Given the description of an element on the screen output the (x, y) to click on. 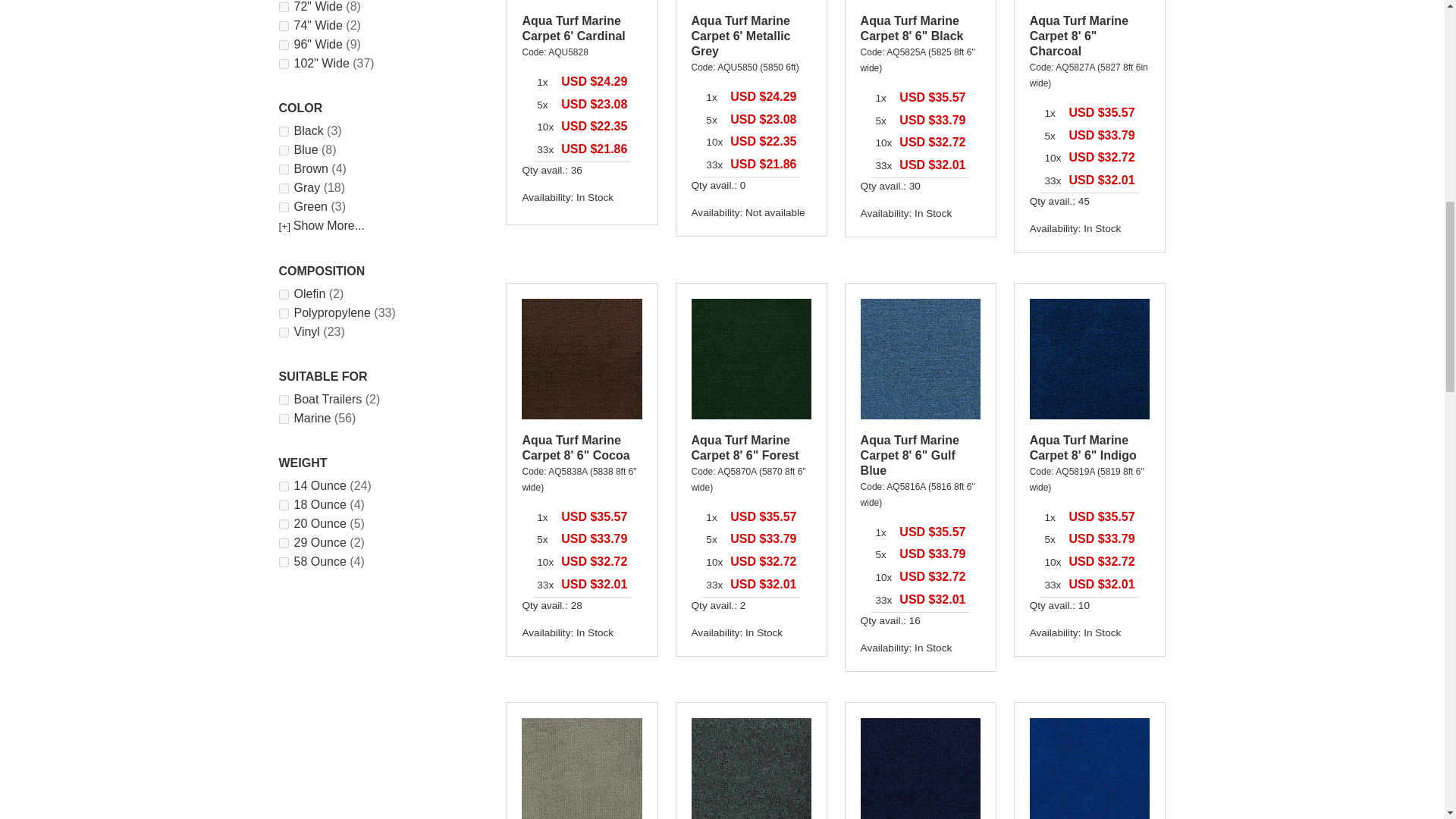
False (283, 294)
False (283, 131)
Aqua Turf Marine Carpet 6' Cardinal (572, 28)
Aqua Turf Marine Carpet 8' 6" Charcoal (1078, 35)
Aqua Turf Marine Carpet 8' 6" Forest (751, 358)
False (283, 188)
False (283, 169)
False (283, 26)
Aqua Turf Marine Carpet 6' Metallic Grey (740, 35)
False (283, 150)
